Given the description of an element on the screen output the (x, y) to click on. 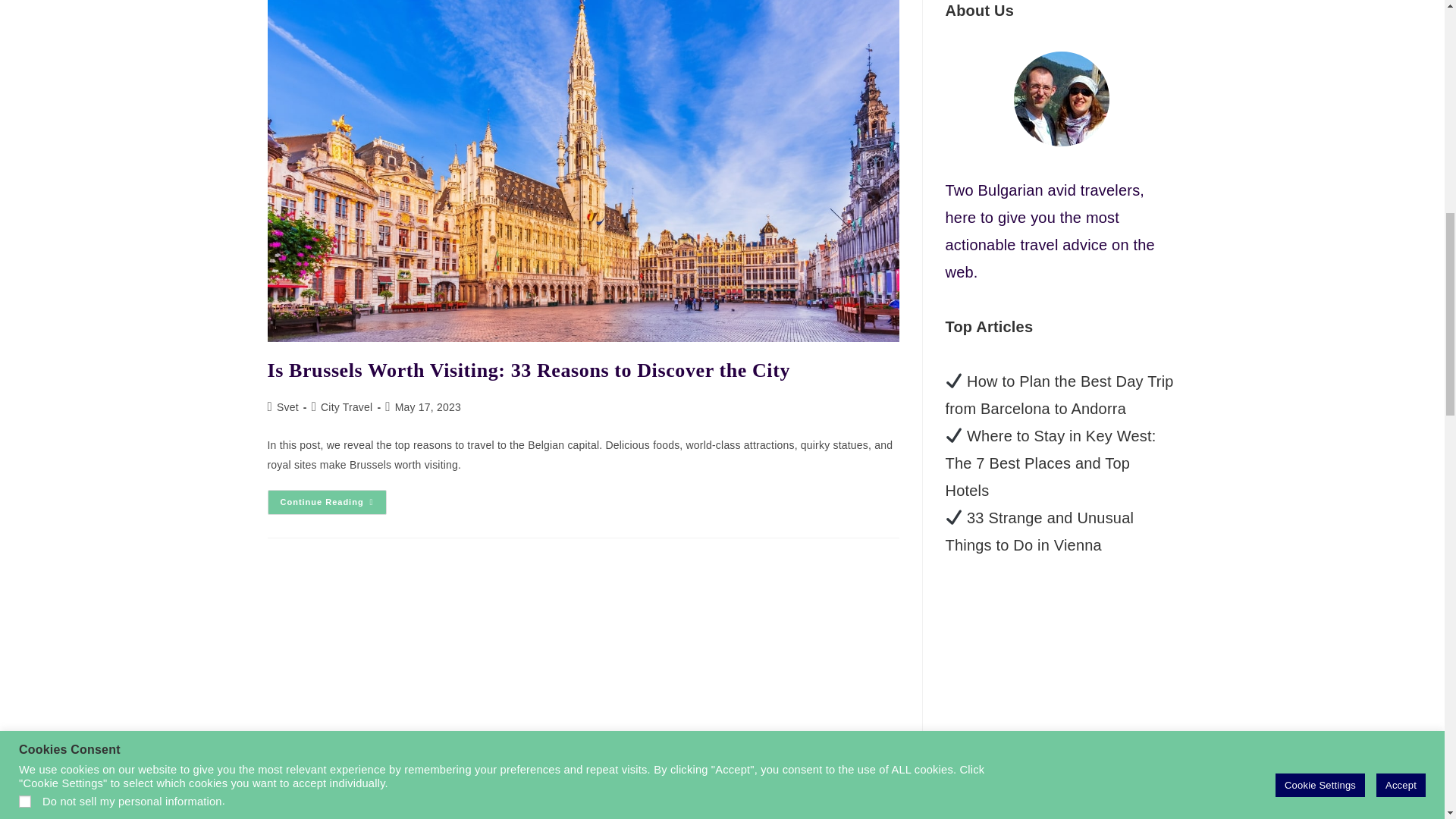
Posts by Svet (287, 407)
